Given the description of an element on the screen output the (x, y) to click on. 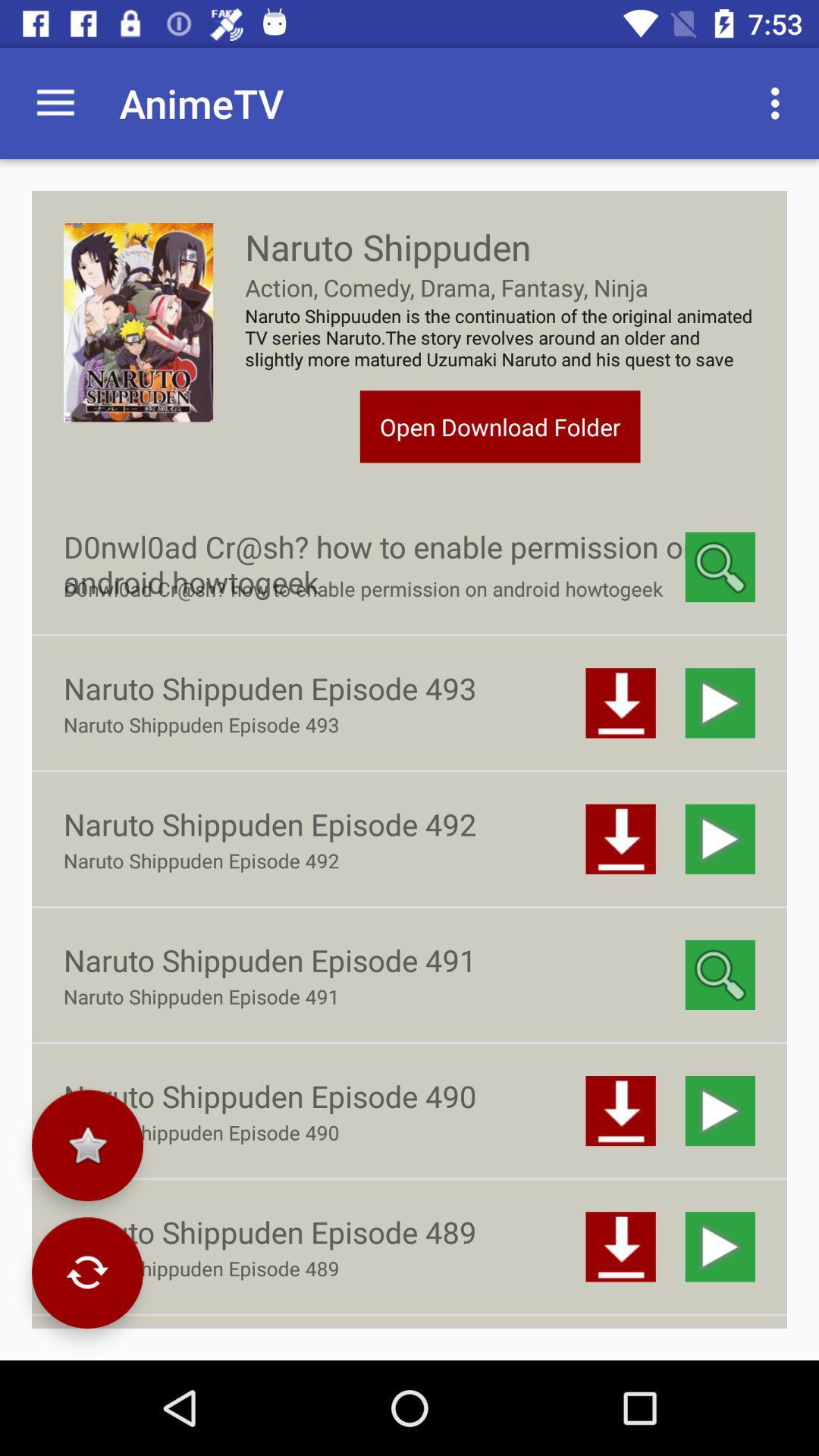
tap the item next to animetv app (779, 103)
